Given the description of an element on the screen output the (x, y) to click on. 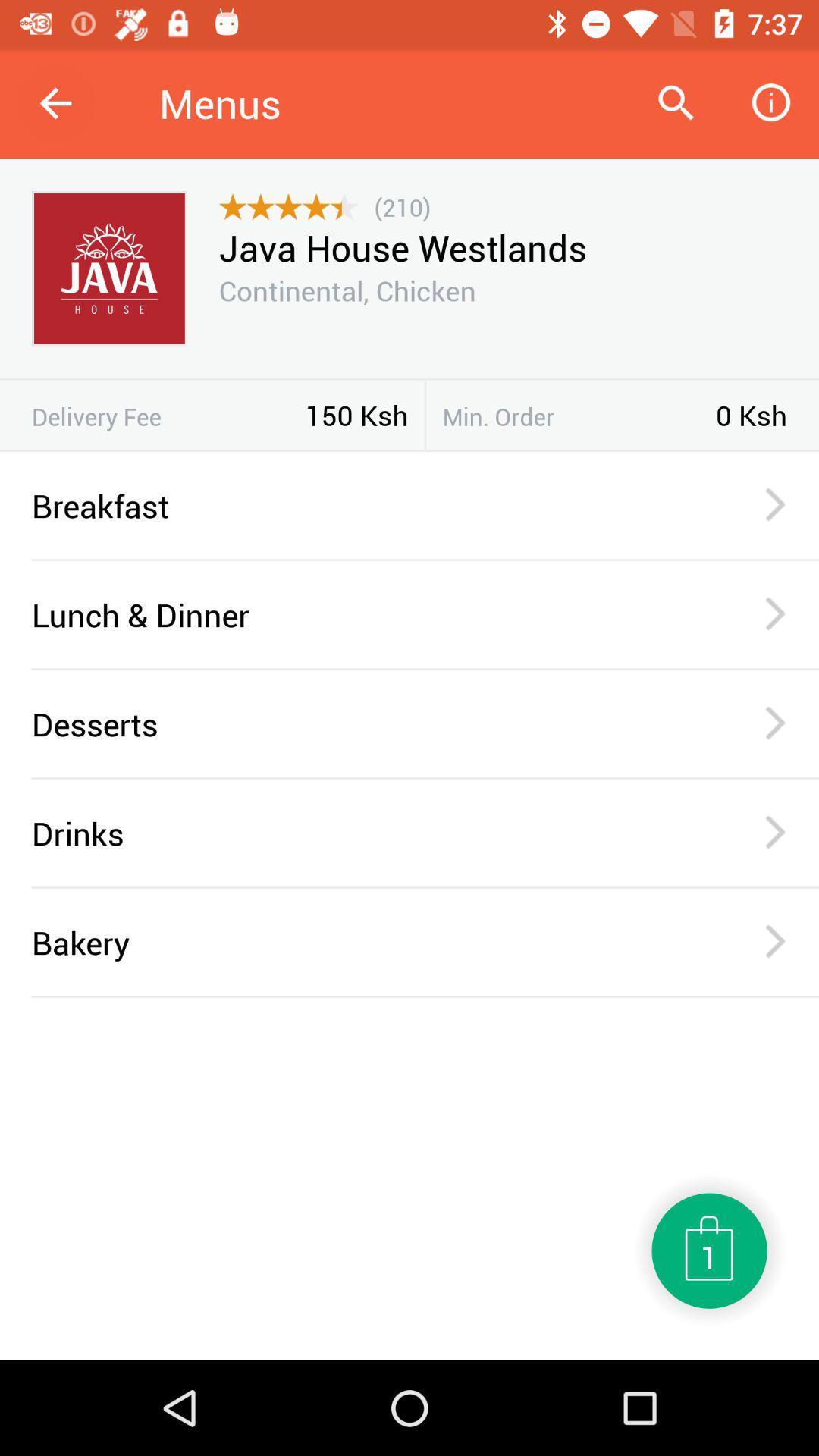
tap desserts item (365, 723)
